Given the description of an element on the screen output the (x, y) to click on. 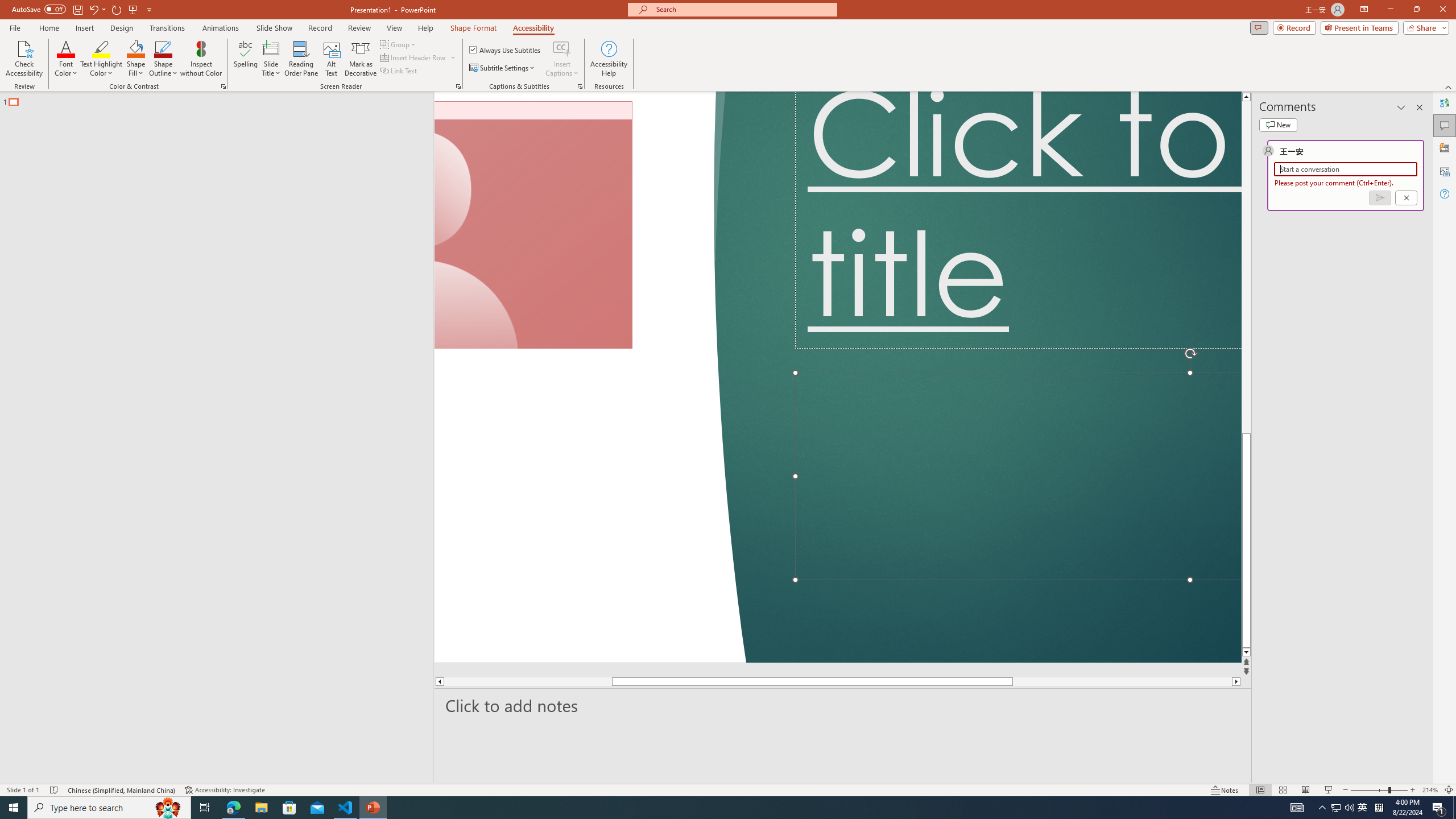
Slide Notes (843, 705)
Mark as Decorative (360, 58)
Start a conversation (1344, 168)
Captions & Subtitles (580, 85)
Slide Title (271, 48)
Insert Header Row (413, 56)
Alt Text (331, 58)
Class: MsoCommandBar (728, 789)
Spell Check No Errors (54, 790)
